Given the description of an element on the screen output the (x, y) to click on. 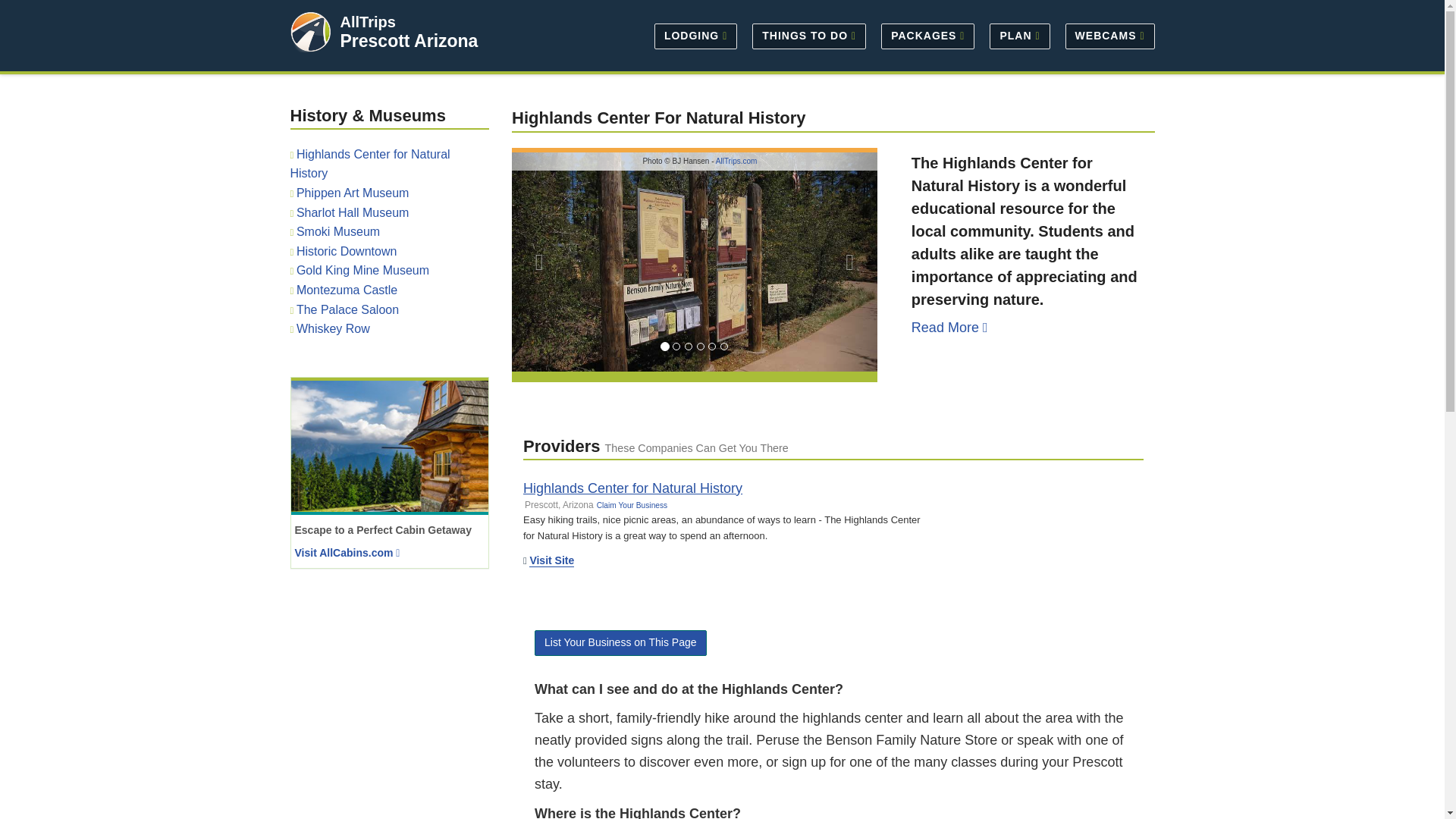
THINGS TO DO (808, 35)
AllTrips.com (736, 161)
WEBCAMS (1106, 35)
AllTrips (366, 21)
LODGING (695, 35)
Prescott Arizona (408, 40)
PLAN (1019, 35)
PACKAGES (927, 35)
